Given the description of an element on the screen output the (x, y) to click on. 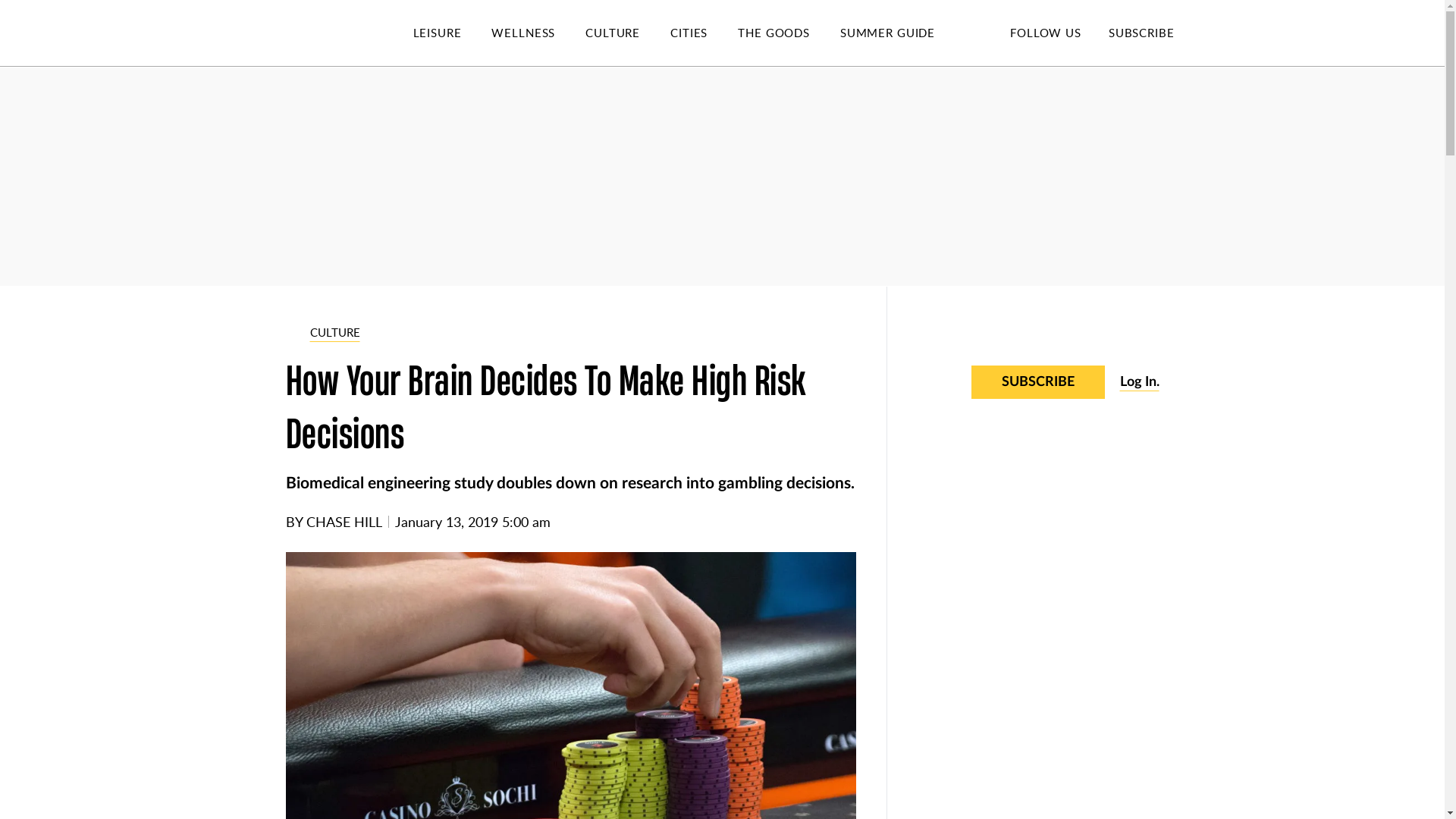
SUMMER GUIDE (902, 32)
CULTURE (627, 32)
CITIES (703, 32)
LEISURE (452, 32)
SUBSCRIBE (1141, 31)
WELLNESS (538, 32)
FOLLOW US (1045, 32)
THE GOODS (789, 32)
